Given the description of an element on the screen output the (x, y) to click on. 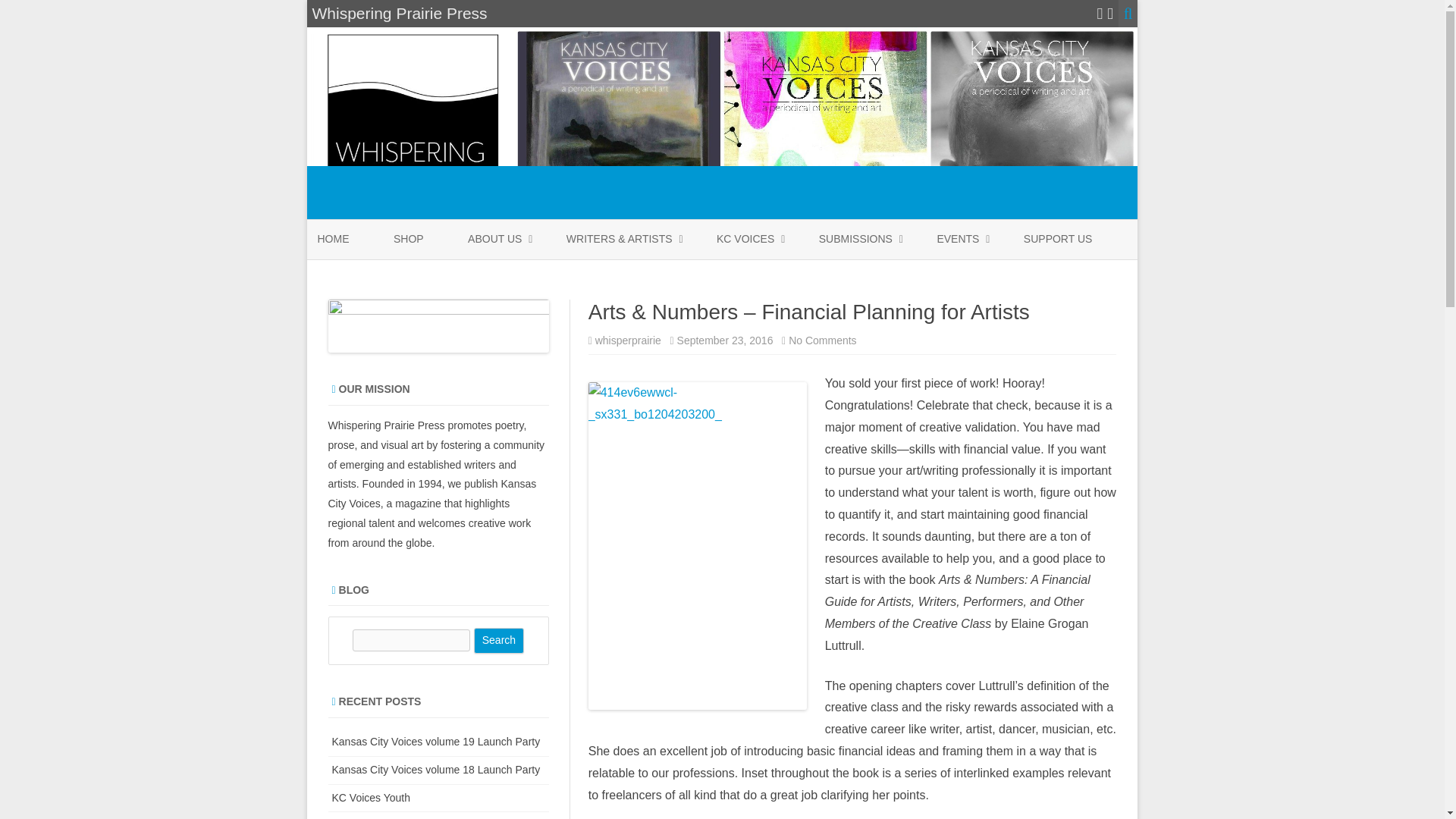
KANSAS CITY VOICES (791, 274)
Search (499, 640)
KC VOICES (745, 239)
OUR BOARD (543, 274)
VOLUNTEERING (641, 274)
ABOUT US (494, 239)
